Given the description of an element on the screen output the (x, y) to click on. 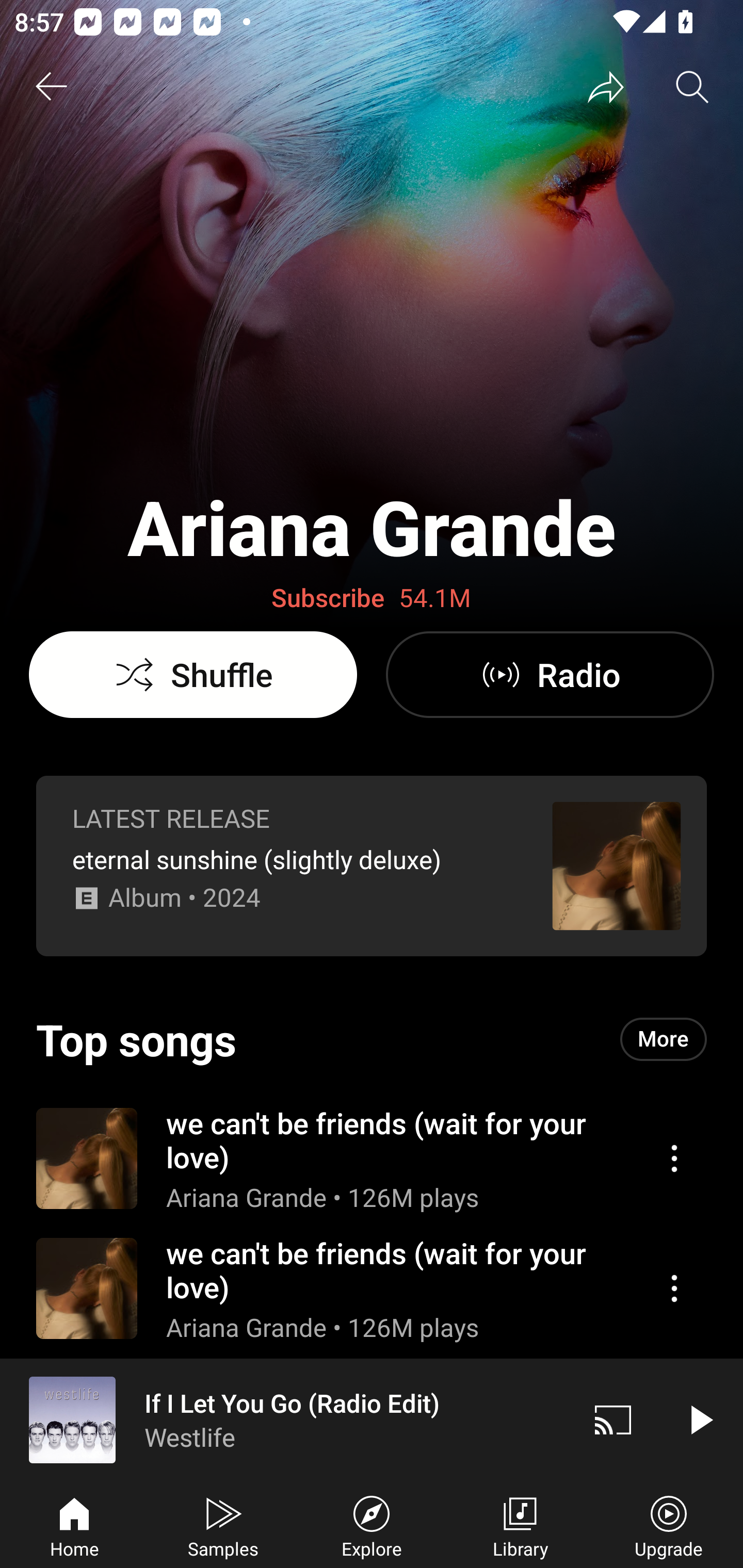
Back (50, 86)
Share (605, 86)
Search (692, 86)
Subscribe 54.1M (371, 598)
Shuffle (192, 674)
Radio (549, 674)
Action menu (371, 1157)
Action menu (673, 1158)
Action menu (371, 1288)
Action menu (673, 1288)
If I Let You Go (Radio Edit) Westlife (284, 1419)
Cast. Disconnected (612, 1419)
Play video (699, 1419)
Home (74, 1524)
Samples (222, 1524)
Explore (371, 1524)
Library (519, 1524)
Upgrade (668, 1524)
